Given the description of an element on the screen output the (x, y) to click on. 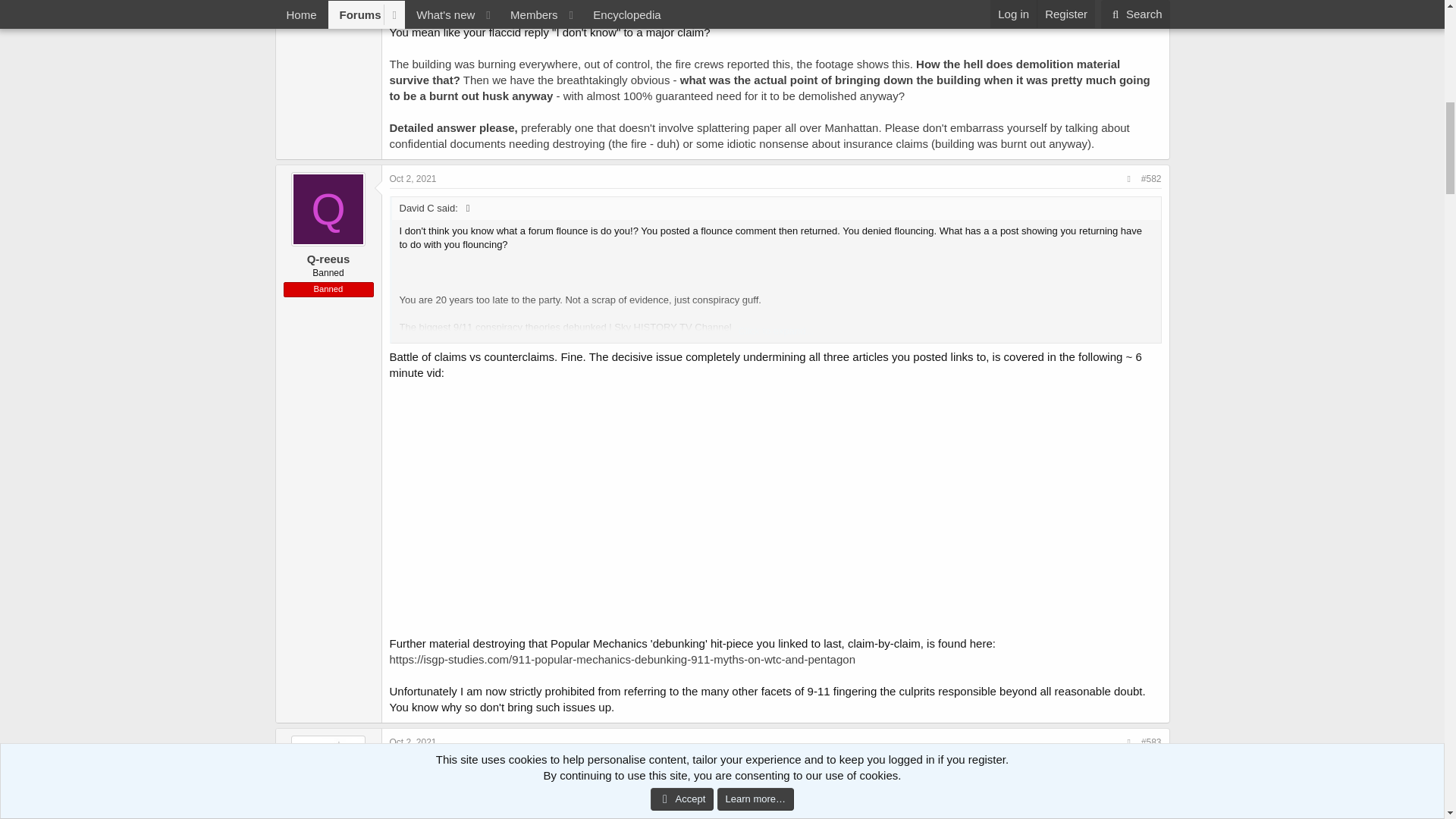
Oct 2, 2021 at 5:45 PM (413, 178)
Oct 2, 2021 at 7:39 PM (413, 742)
